Given the description of an element on the screen output the (x, y) to click on. 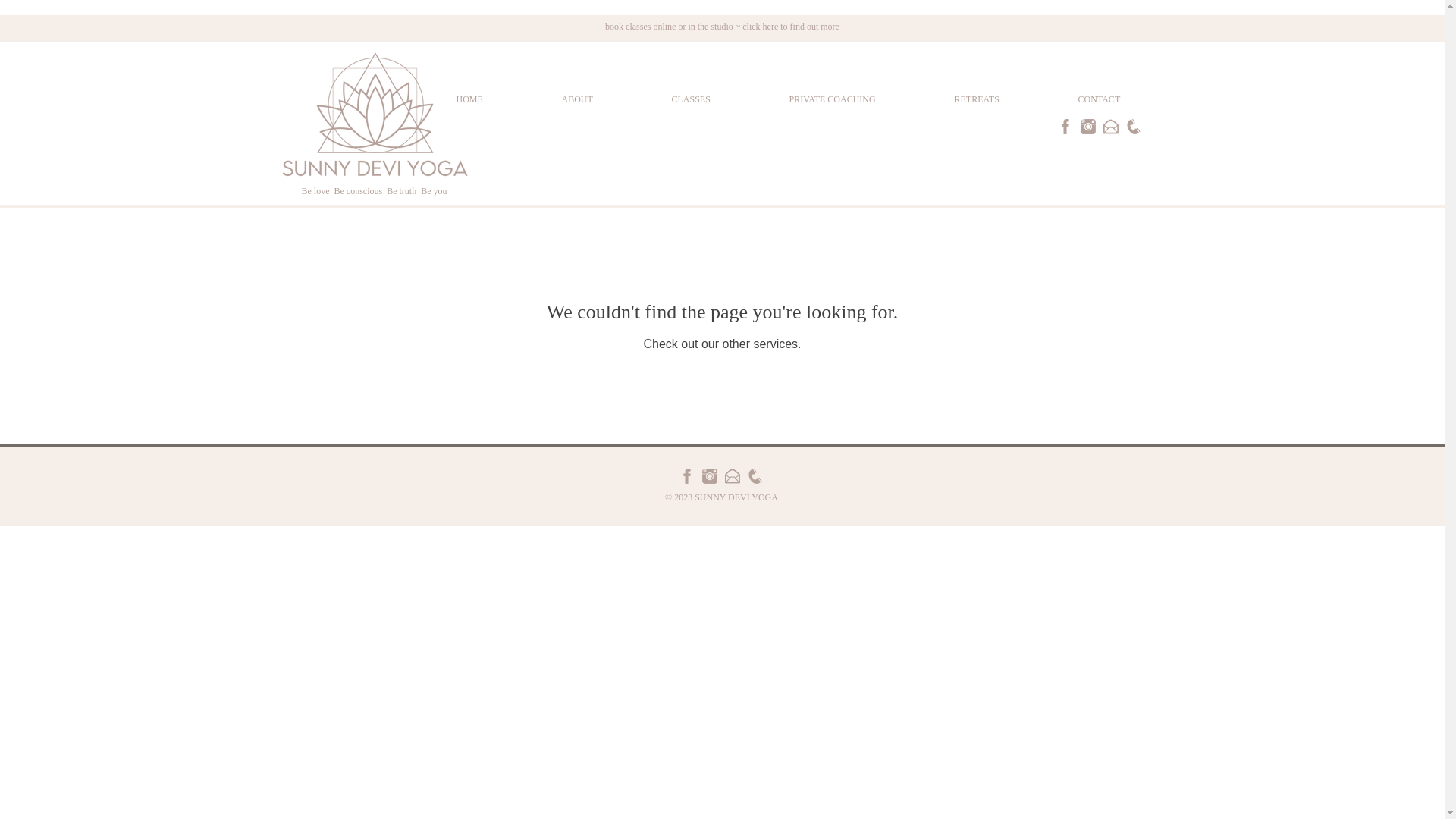
PRIVATE COACHING (860, 99)
HOME (497, 99)
RETREATS (1005, 99)
CONTACT (1126, 99)
CLASSES (718, 99)
ABOUT (605, 99)
Be love  Be conscious  Be truth  Be you (373, 190)
